Given the description of an element on the screen output the (x, y) to click on. 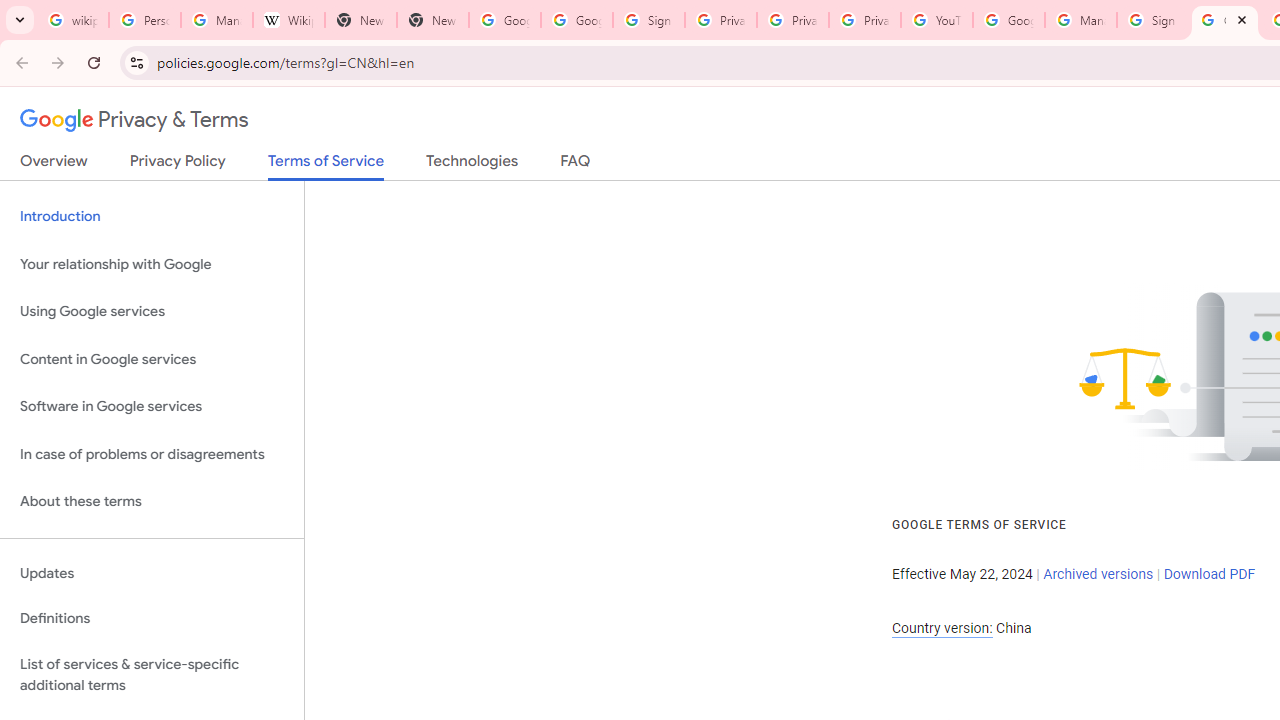
About these terms (152, 502)
Privacy & Terms (134, 120)
FAQ (575, 165)
Manage your Location History - Google Search Help (216, 20)
New Tab (432, 20)
Content in Google services (152, 358)
Introduction (152, 216)
Download PDF (1209, 574)
Your relationship with Google (152, 263)
Updates (152, 573)
